Given the description of an element on the screen output the (x, y) to click on. 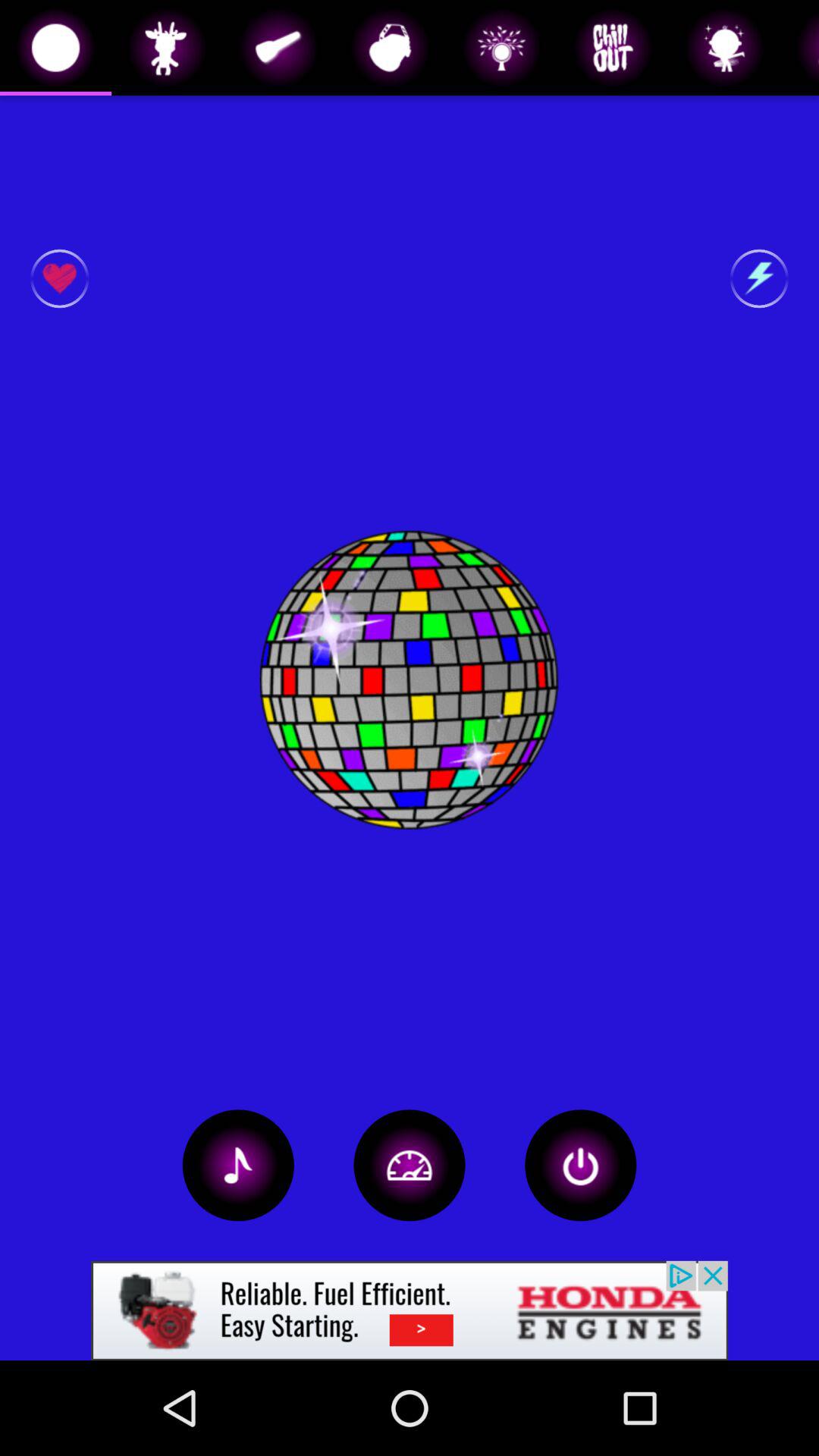
change interval (409, 1165)
